Given the description of an element on the screen output the (x, y) to click on. 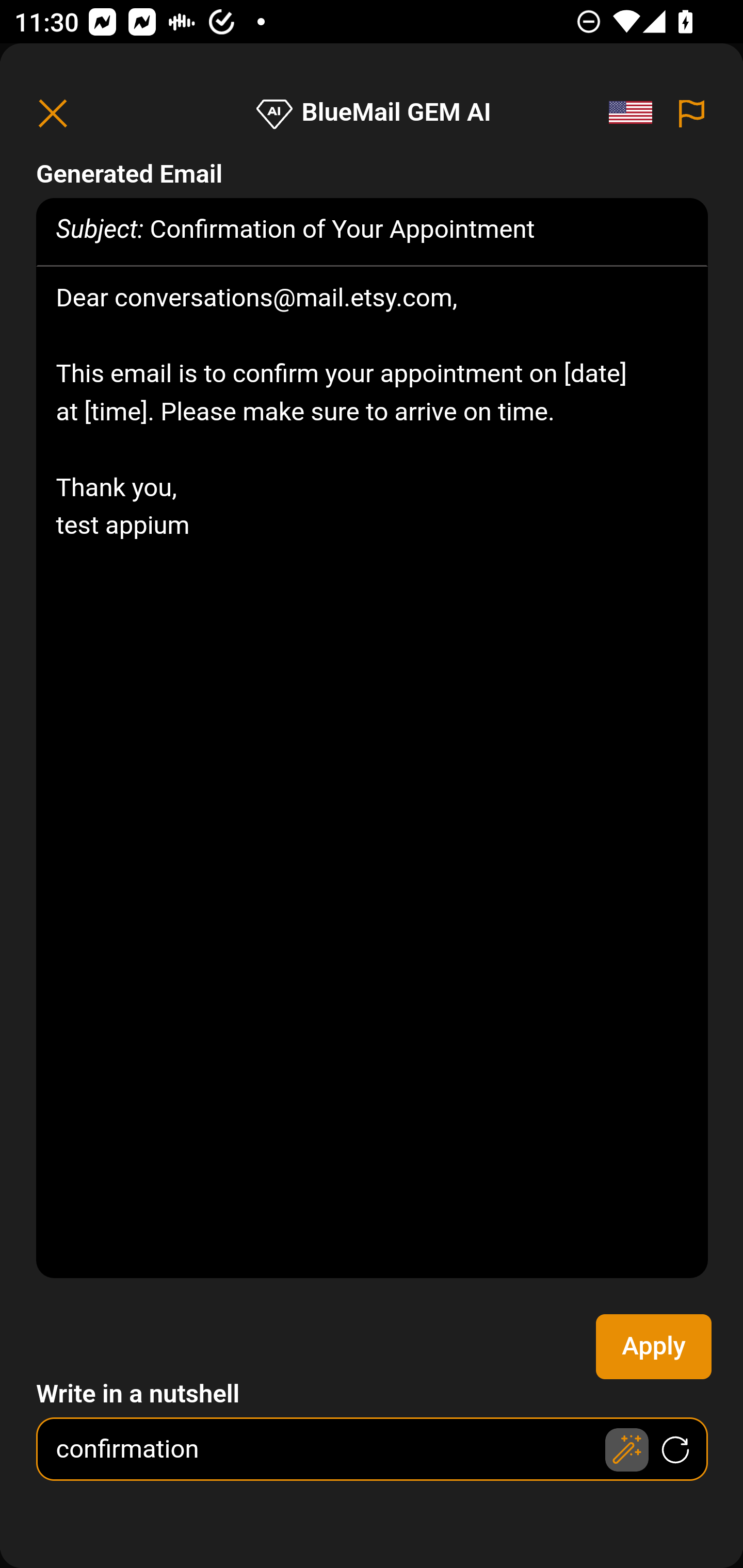
svg%3e (636, 113)
Report (692, 113)
Apply (654, 1346)
confirmation (372, 1449)
